Given the description of an element on the screen output the (x, y) to click on. 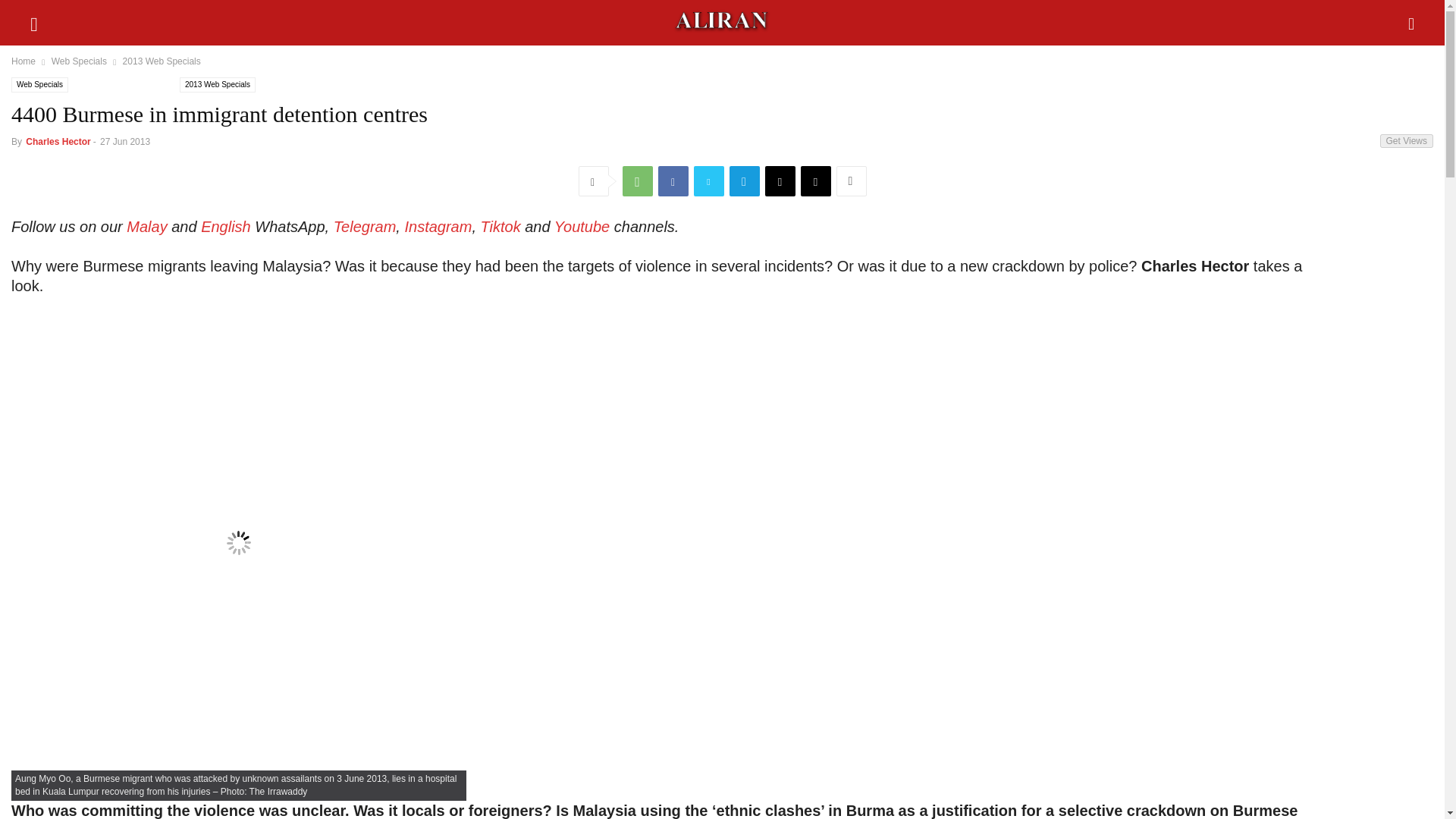
Facebook (673, 181)
2013 Web Specials (161, 61)
Home (22, 61)
Get Views (1406, 141)
Charles Hector (58, 141)
Web Specials (39, 84)
Search (45, 20)
WhatsApp (636, 181)
Telegram (744, 181)
Twitter (708, 181)
View all posts in 2013 Web Specials (161, 61)
2013 Web Specials (217, 84)
Web Specials (78, 61)
Malay (146, 226)
View all posts in Web Specials (78, 61)
